Given the description of an element on the screen output the (x, y) to click on. 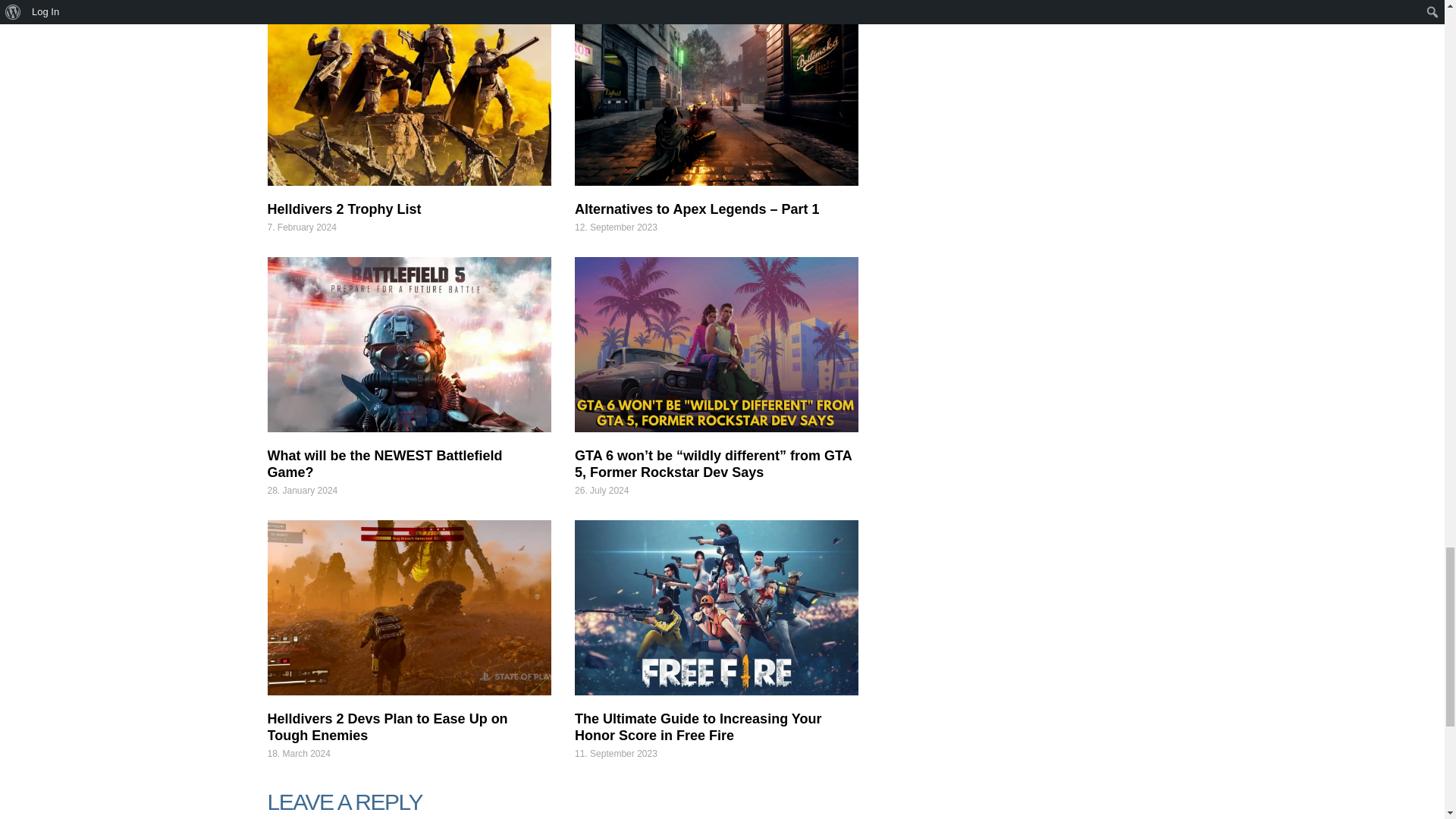
Helldivers 2 Trophy List (343, 209)
What will be the NEWEST Battlefield Game? (384, 463)
What will be the NEWEST Battlefield Game? (408, 344)
Helldivers 2 Trophy List (408, 97)
